Given the description of an element on the screen output the (x, y) to click on. 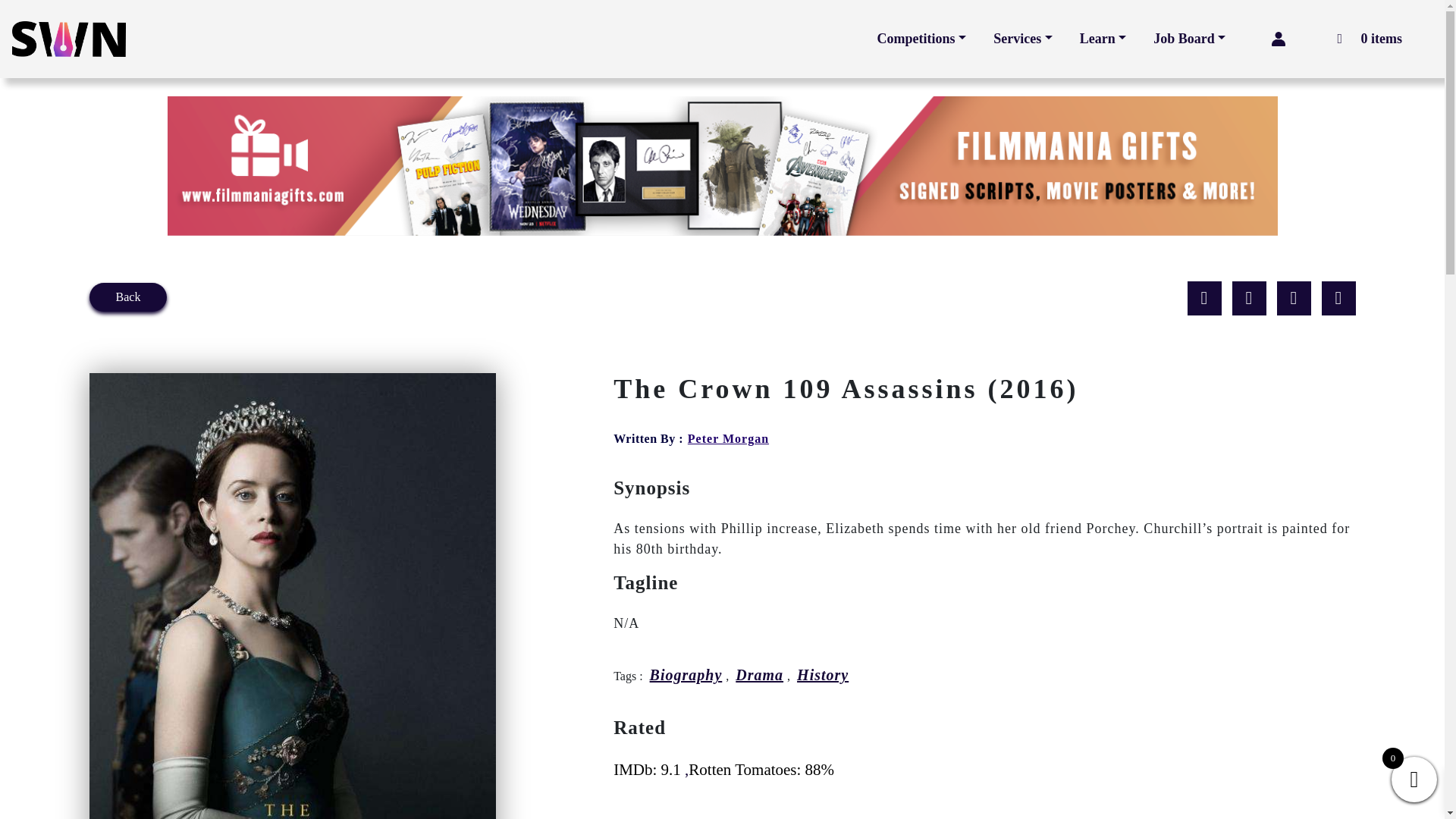
0 items (1361, 38)
Start shopping (1361, 38)
Competitions (921, 38)
Back (127, 296)
Learn (1103, 38)
Job Board (1189, 38)
Peter Morgan (727, 438)
Services (1022, 38)
